Given the description of an element on the screen output the (x, y) to click on. 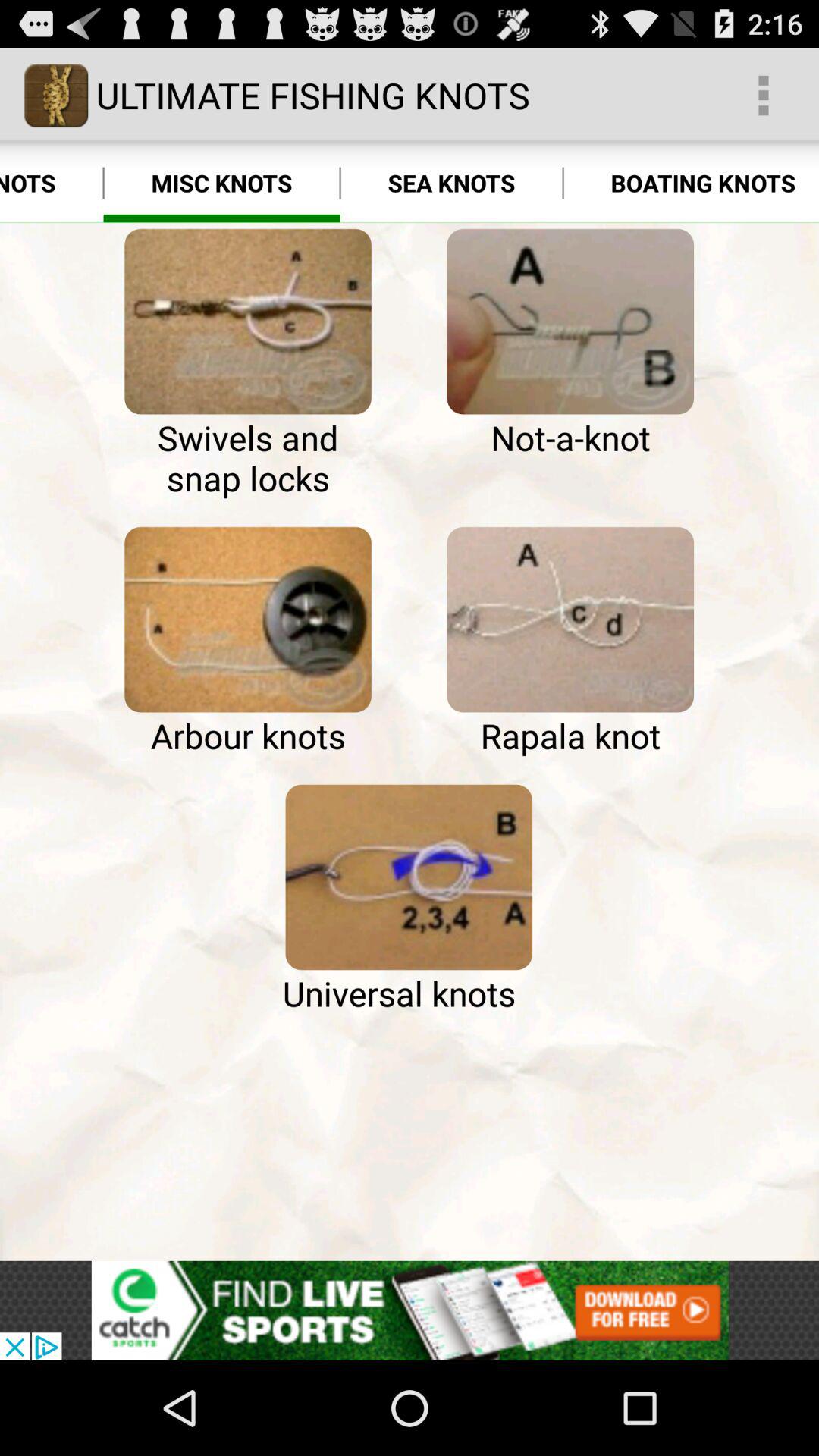
select rapala knot (570, 619)
